Given the description of an element on the screen output the (x, y) to click on. 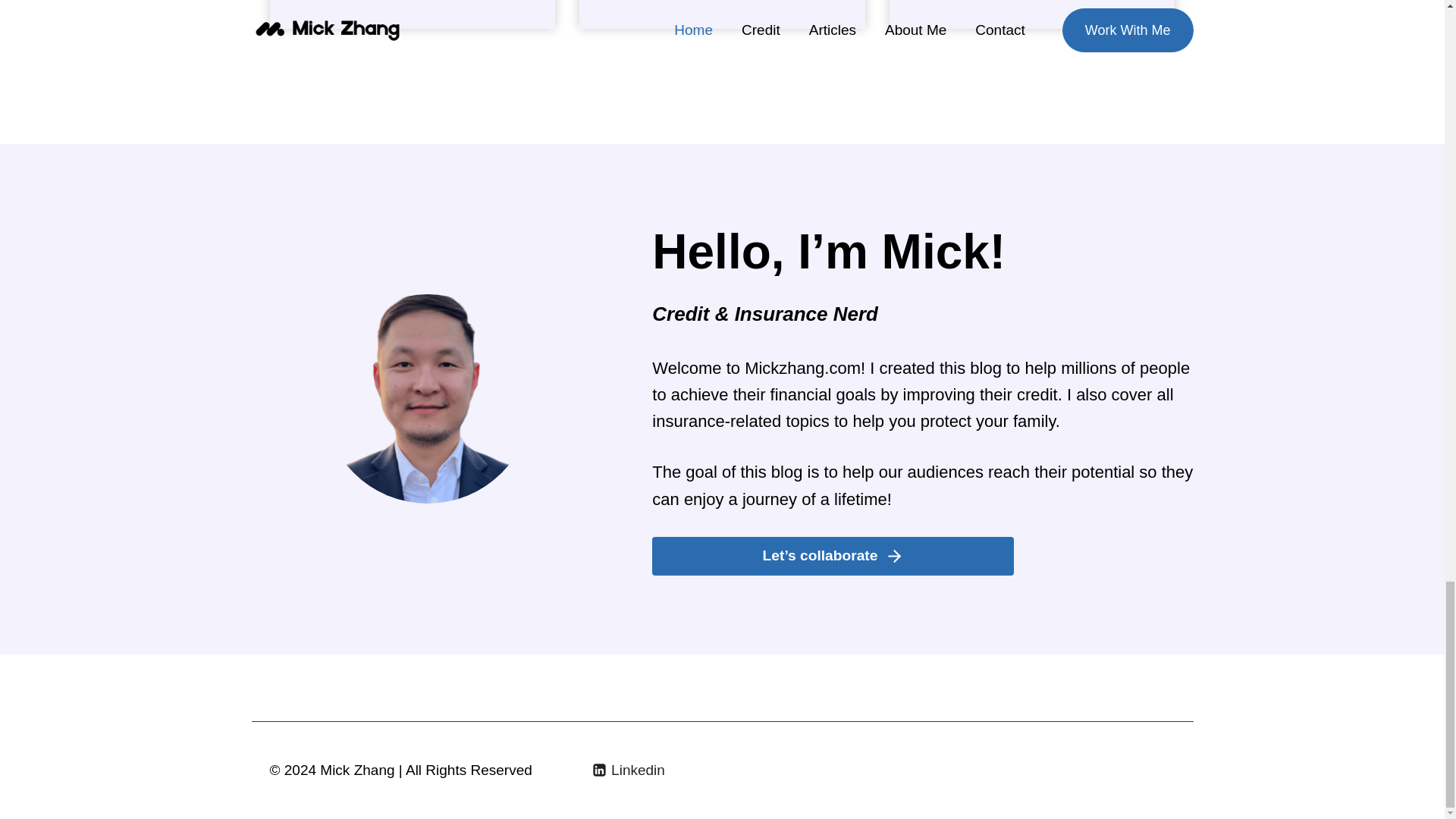
Linkedin (628, 769)
